Given the description of an element on the screen output the (x, y) to click on. 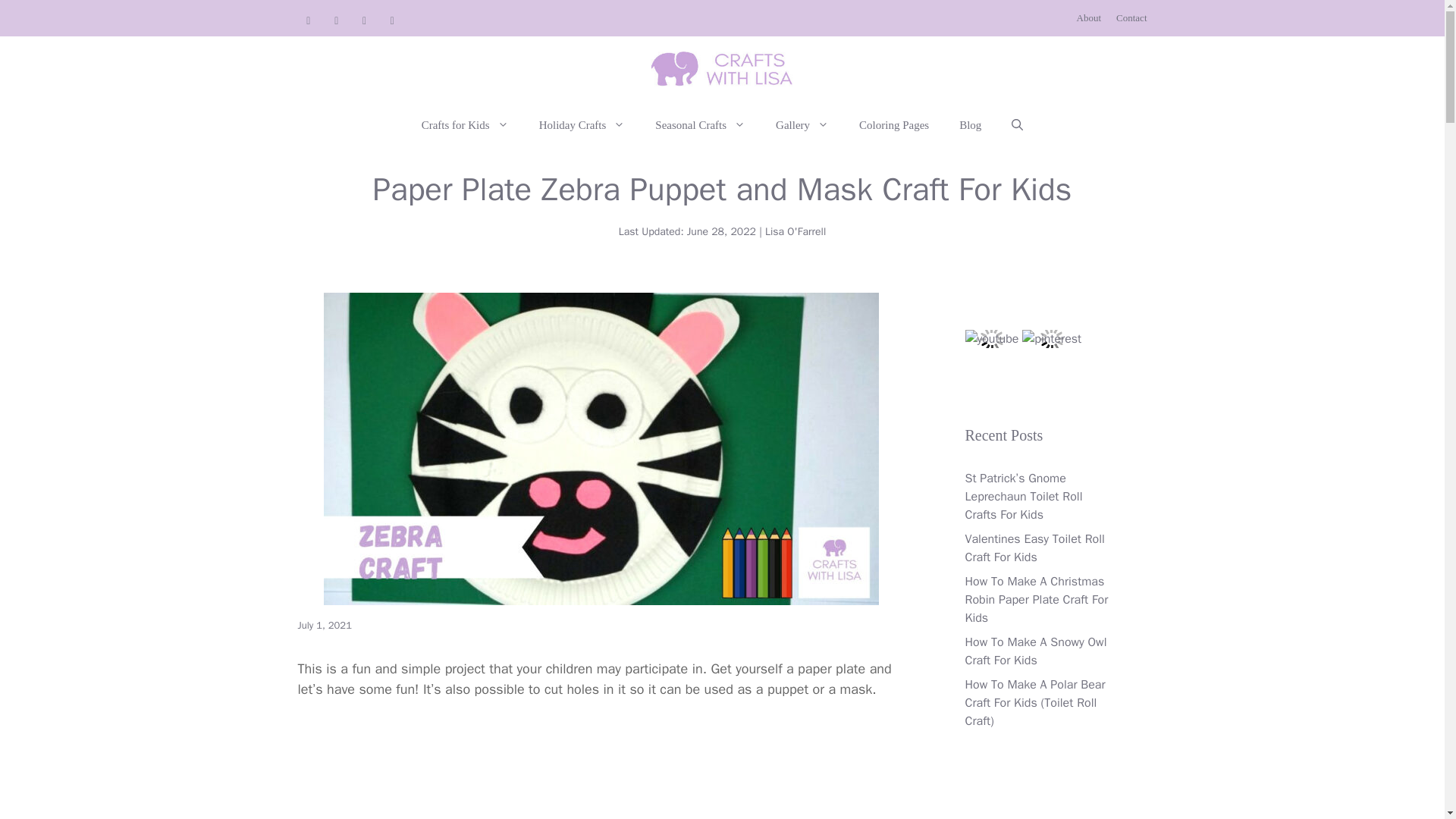
YouTube (307, 21)
View all posts by Lisa O'Farrell (795, 231)
pinterest (1051, 339)
About (1089, 17)
Paper Plate Zebra Puppet and Mask Craft For Kids (600, 769)
Facebook (364, 21)
Contact (1131, 17)
Instagram (391, 21)
Crafts for Kids (465, 125)
youtube (990, 339)
